Given the description of an element on the screen output the (x, y) to click on. 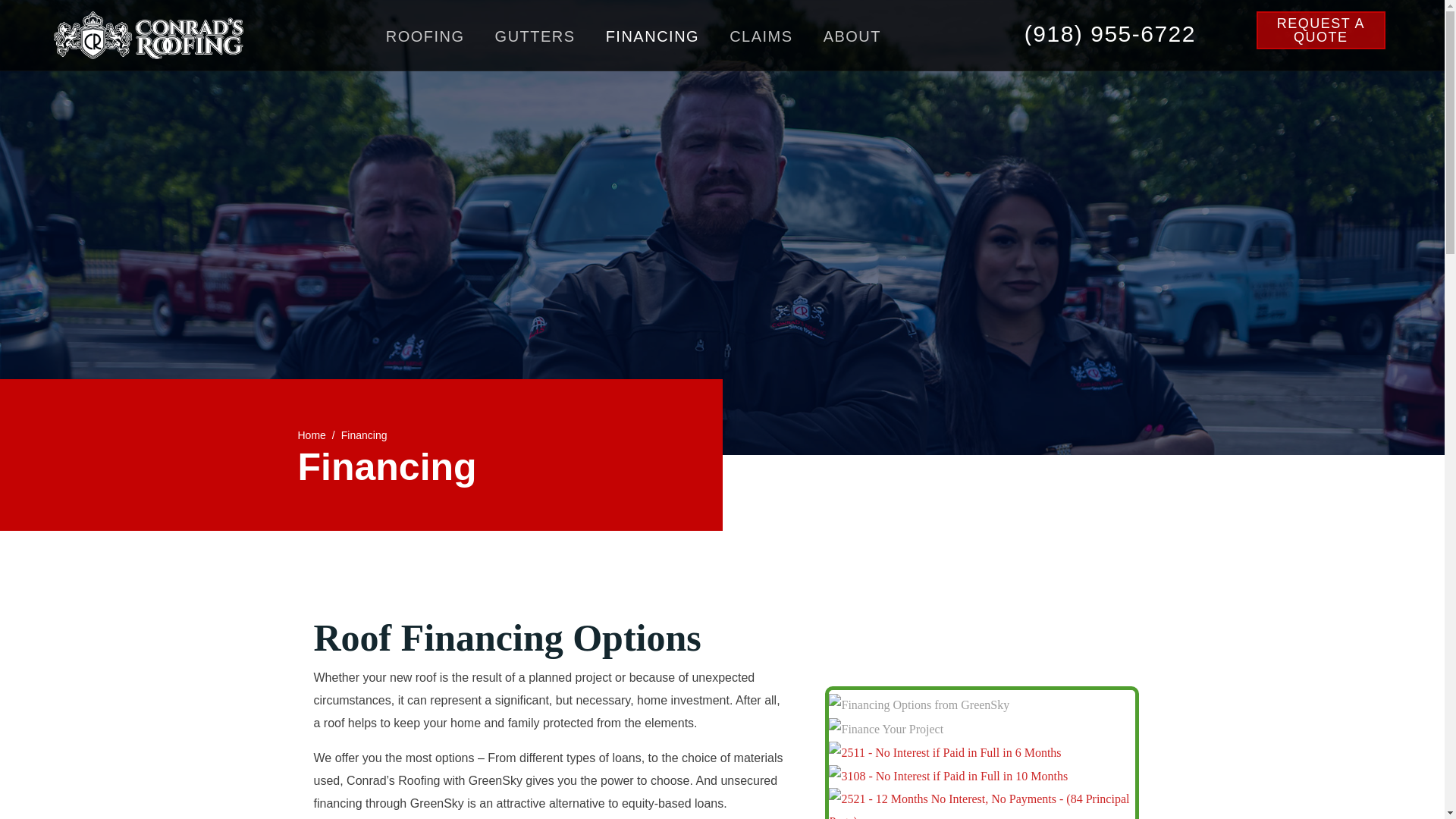
ROOFING (424, 35)
CLAIMS (760, 35)
Home (310, 435)
REQUEST A QUOTE (1321, 30)
FINANCING (652, 35)
ABOUT (851, 35)
GUTTERS (535, 35)
